Given the description of an element on the screen output the (x, y) to click on. 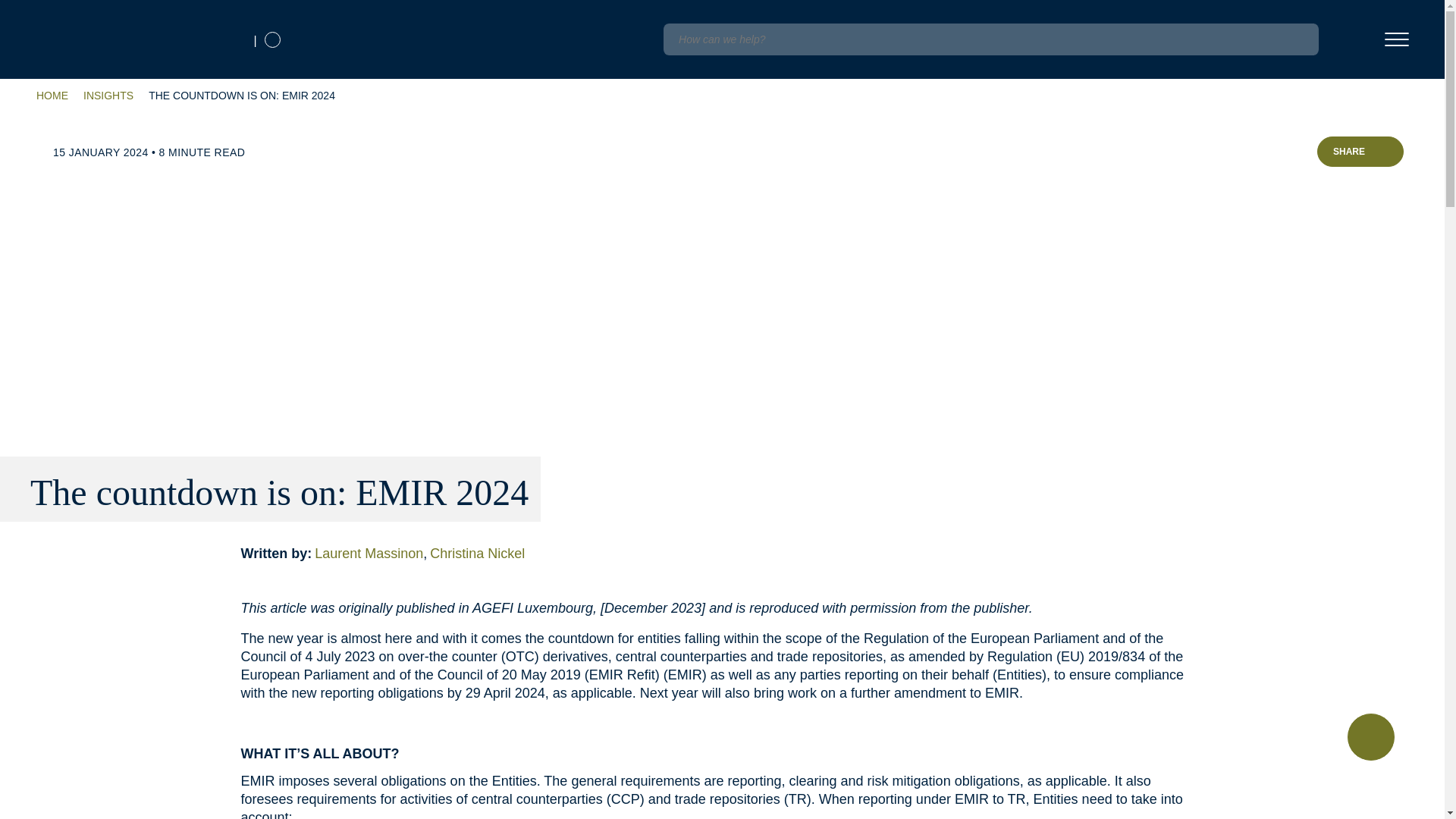
HOME (52, 95)
INSIGHTS (107, 95)
Christina Nickel (478, 553)
Insert a query. Press enter to send (990, 39)
Laurent Massinon (371, 553)
